Given the description of an element on the screen output the (x, y) to click on. 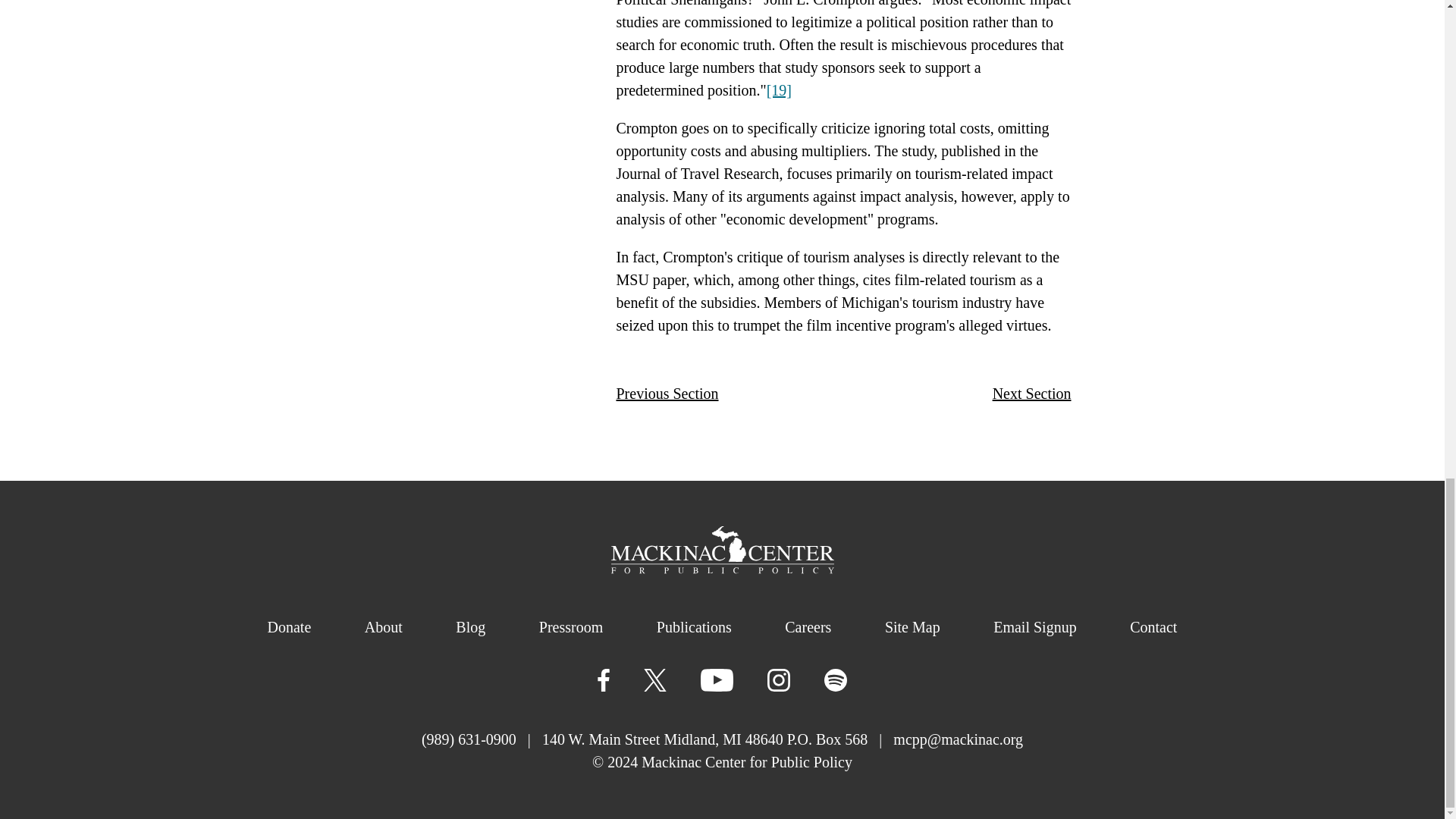
Next Section (1031, 393)
Pressroom (570, 626)
Contact (1152, 626)
Careers (807, 626)
Previous Section (666, 393)
Blog (469, 626)
About (384, 626)
Site Map (912, 626)
Donate (288, 626)
Publications (694, 626)
Email Signup (1033, 626)
